Given the description of an element on the screen output the (x, y) to click on. 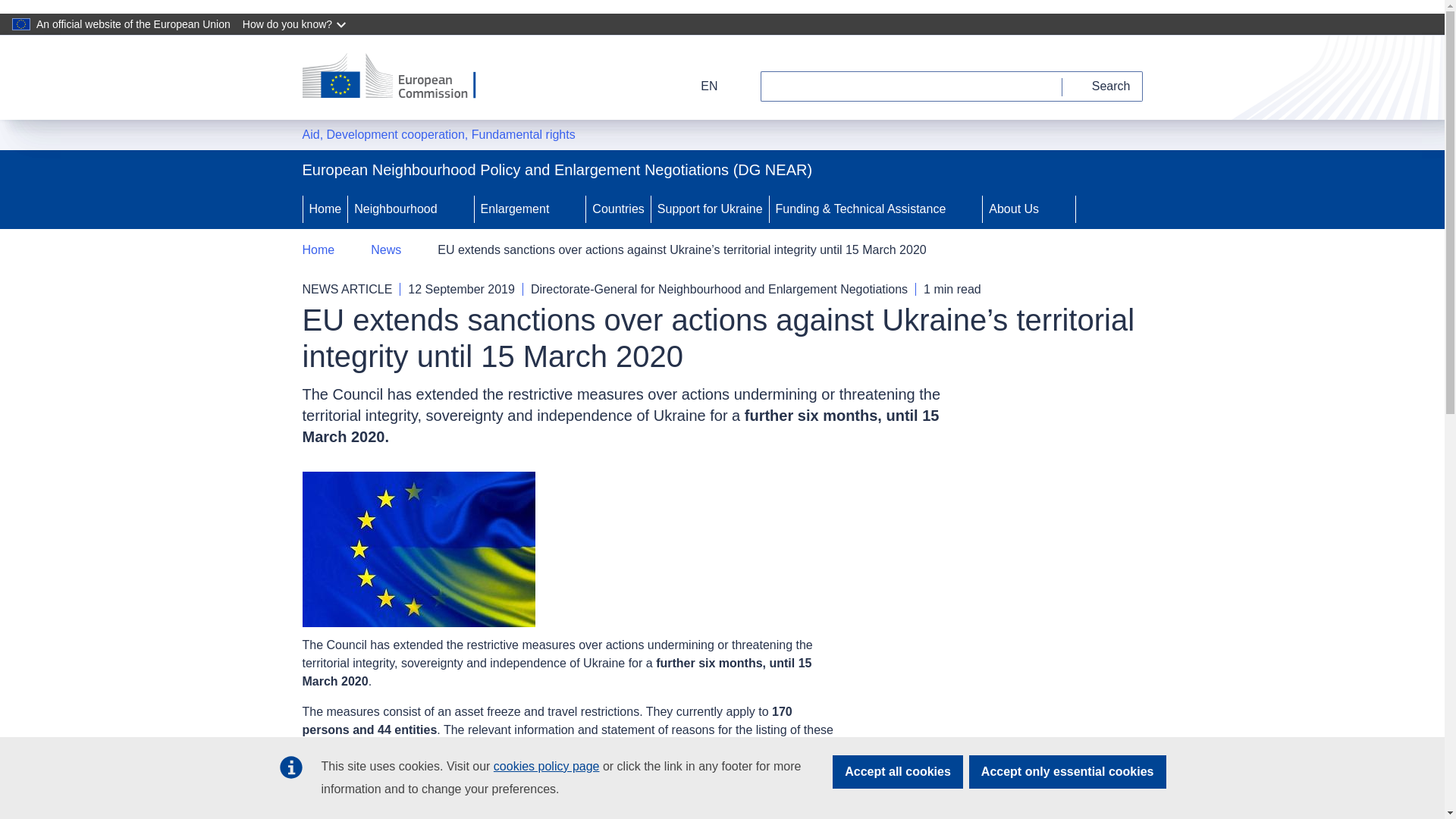
cookies policy page (546, 766)
Enlargement (513, 209)
Neighbourhood (393, 209)
Aid, Development cooperation, Fundamental rights (438, 134)
European Commission (399, 77)
20181109-eu-ukraine.jpg (417, 549)
How do you know? (295, 24)
Accept all cookies (897, 771)
Search (1102, 86)
Home (324, 209)
Accept only essential cookies (1067, 771)
EN (699, 86)
